Given the description of an element on the screen output the (x, y) to click on. 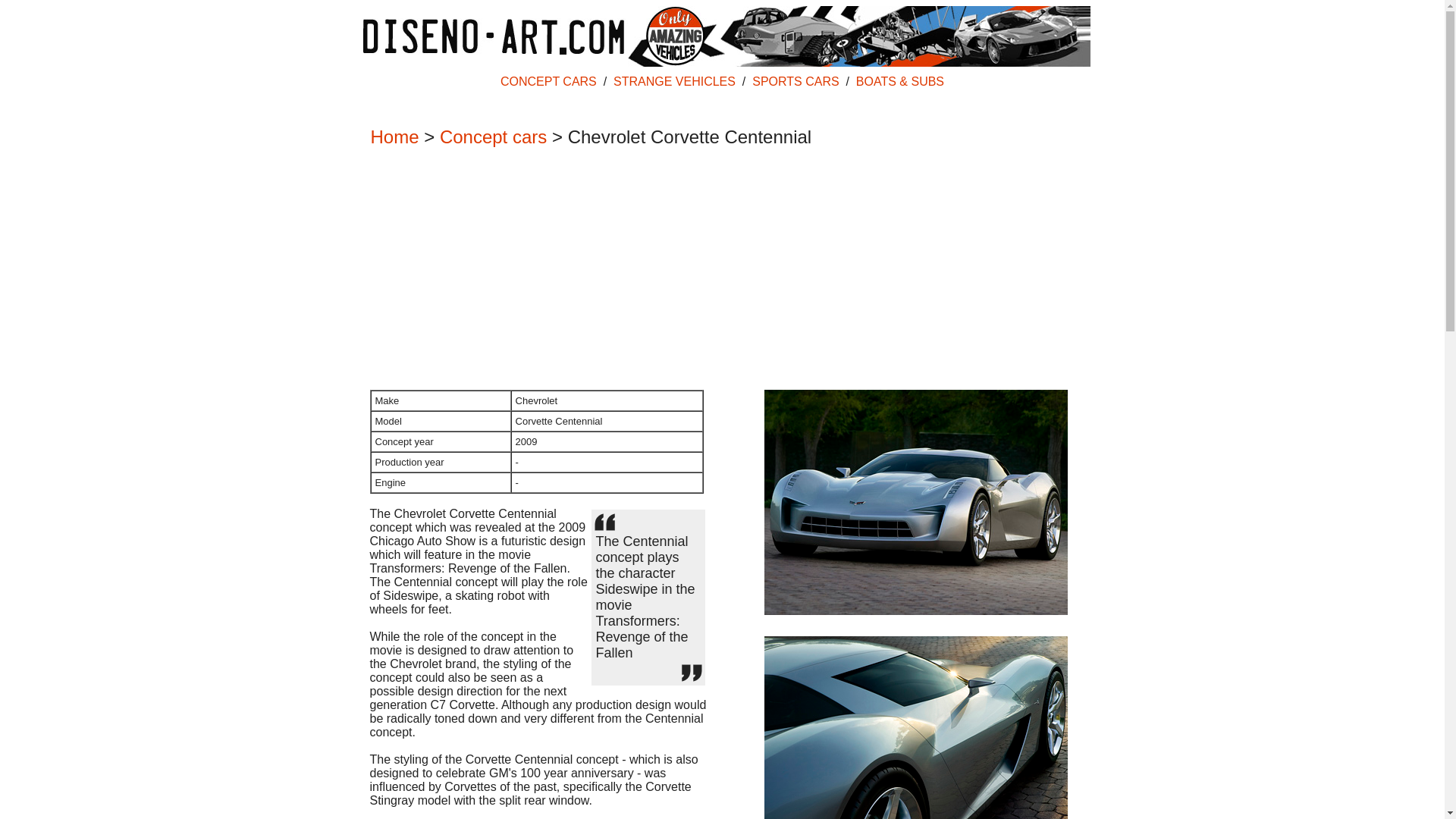
Concept cars (493, 136)
CONCEPT CARS (548, 81)
Home (394, 136)
SPORTS CARS (795, 81)
STRANGE VEHICLES (673, 81)
